Given the description of an element on the screen output the (x, y) to click on. 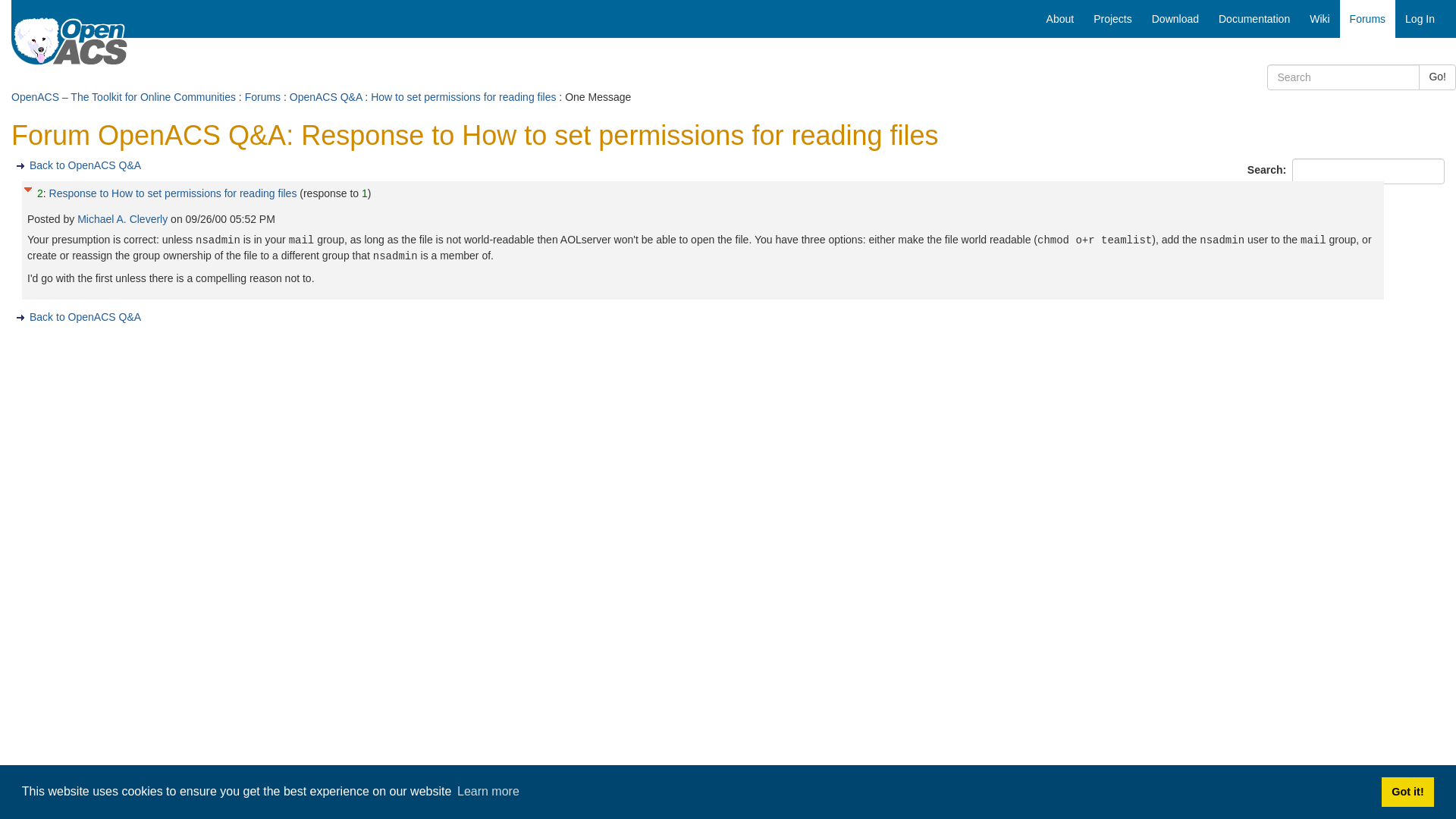
Download (1174, 18)
Michael A. Cleverly (123, 218)
Response to How to set permissions for reading files (173, 193)
Download OpenACS (1174, 18)
Show Michael A. Cleverly posting history (123, 218)
Link to this post on a separate page (173, 193)
How to set permissions for reading files (463, 96)
OpenACS and DotLRN Discussion Forums (1366, 18)
Documentation (1254, 18)
About OpenACS (1060, 18)
